Given the description of an element on the screen output the (x, y) to click on. 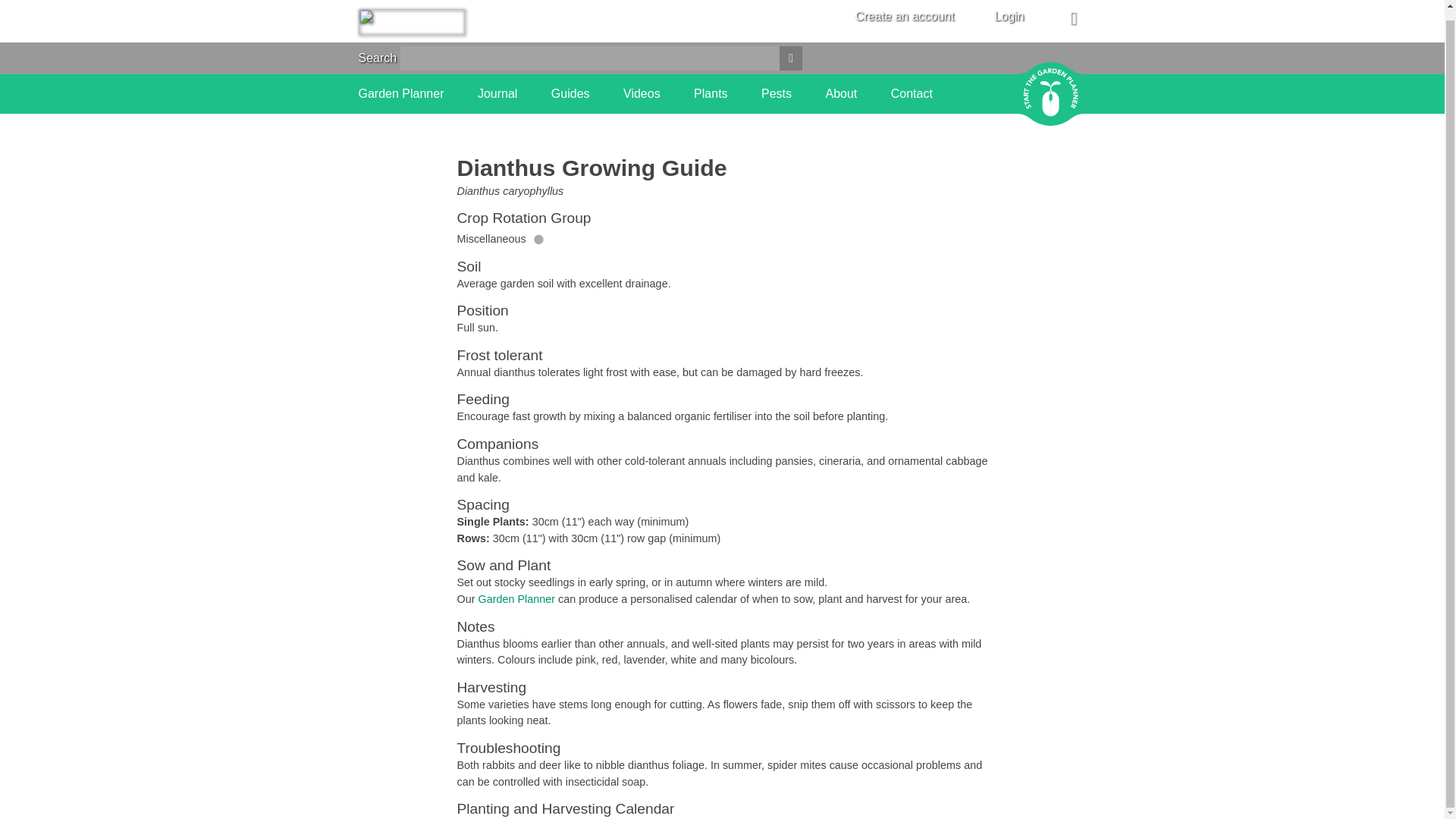
Pests (776, 93)
Create an account (905, 15)
Contact (912, 93)
Plants (710, 93)
Guides (570, 93)
Garden Planner (515, 598)
About (841, 93)
Videos (642, 93)
Garden Planner (401, 93)
Journal (496, 93)
Login (1008, 15)
